Given the description of an element on the screen output the (x, y) to click on. 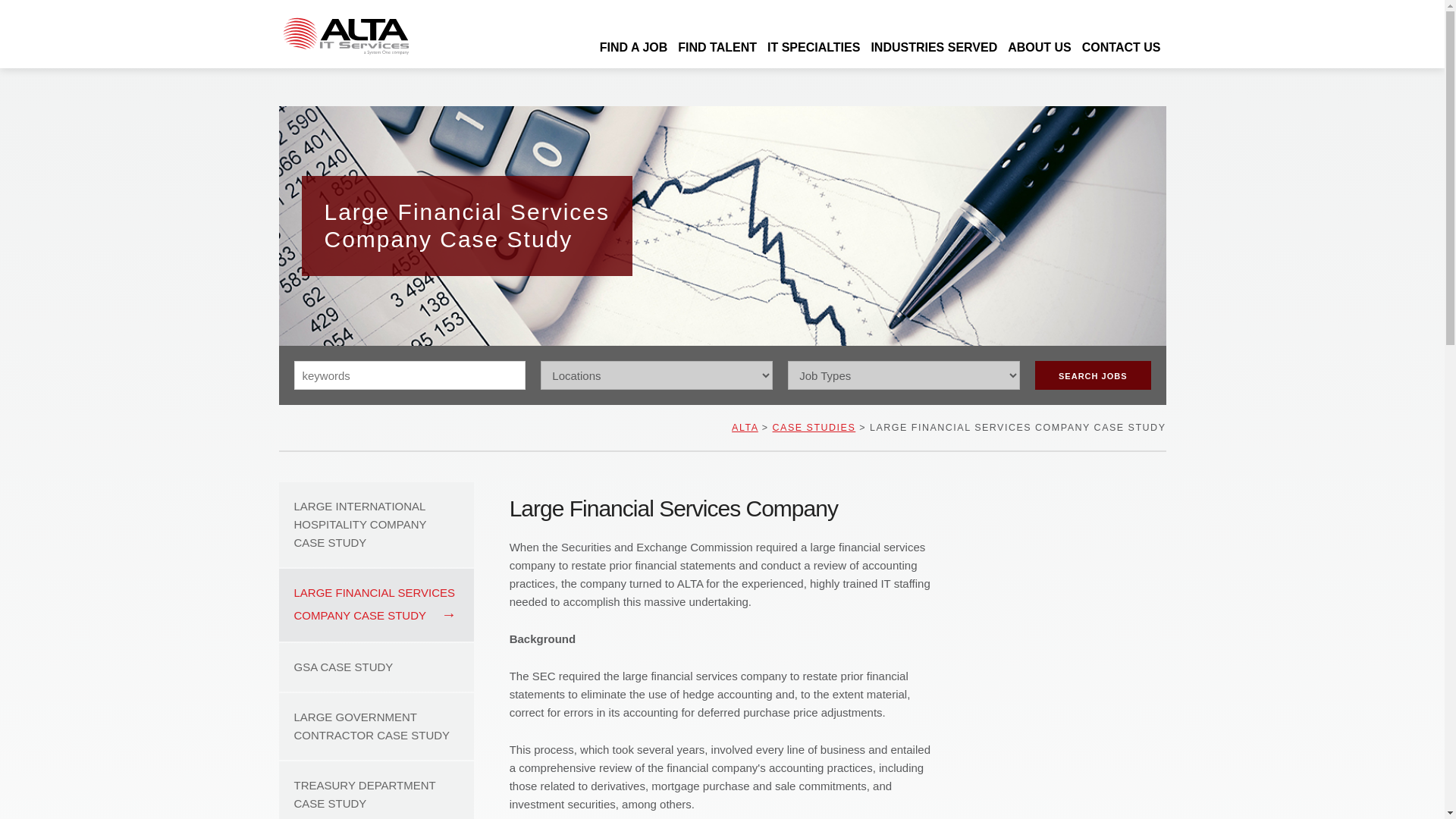
CASE STUDIES (814, 427)
FIND TALENT (716, 47)
CONTACT US (1121, 47)
ALTA (745, 427)
TREASURY DEPARTMENT CASE STUDY (376, 790)
Go to ALTA. (745, 427)
LARGE INTERNATIONAL HOSPITALITY COMPANY CASE STUDY (376, 524)
IT SPECIALTIES (812, 47)
INDUSTRIES SERVED (933, 47)
SEARCH JOBS (1092, 375)
LARGE GOVERNMENT CONTRACTOR CASE STUDY (376, 726)
LARGE FINANCIAL SERVICES COMPANY CASE STUDY (376, 604)
ABOUT US (1040, 47)
FIND A JOB (633, 47)
GSA CASE STUDY (376, 666)
